Given the description of an element on the screen output the (x, y) to click on. 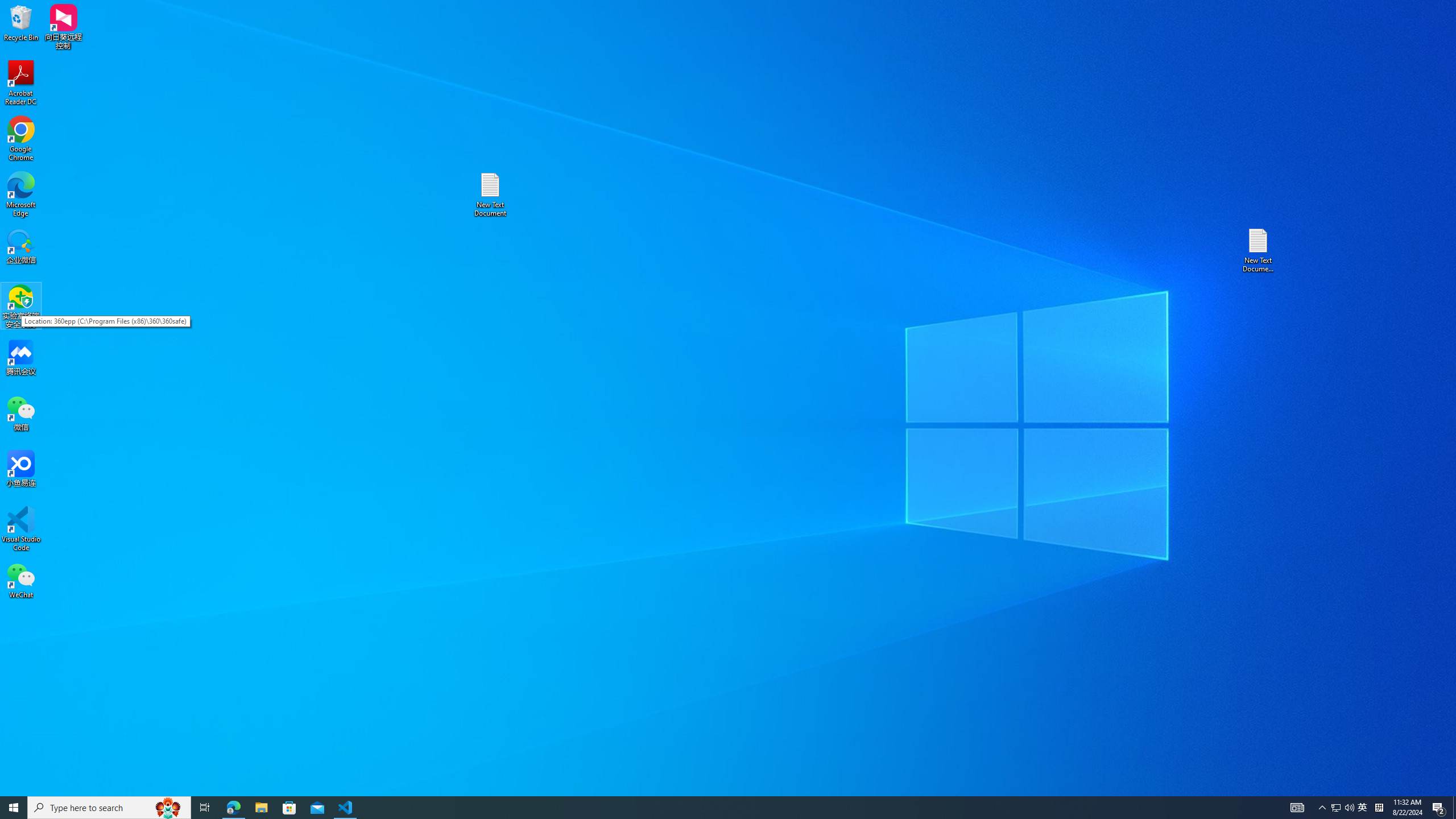
Acrobat Reader DC (1362, 807)
Microsoft Edge (21, 82)
Google Chrome (21, 194)
Visual Studio Code (21, 138)
